Given the description of an element on the screen output the (x, y) to click on. 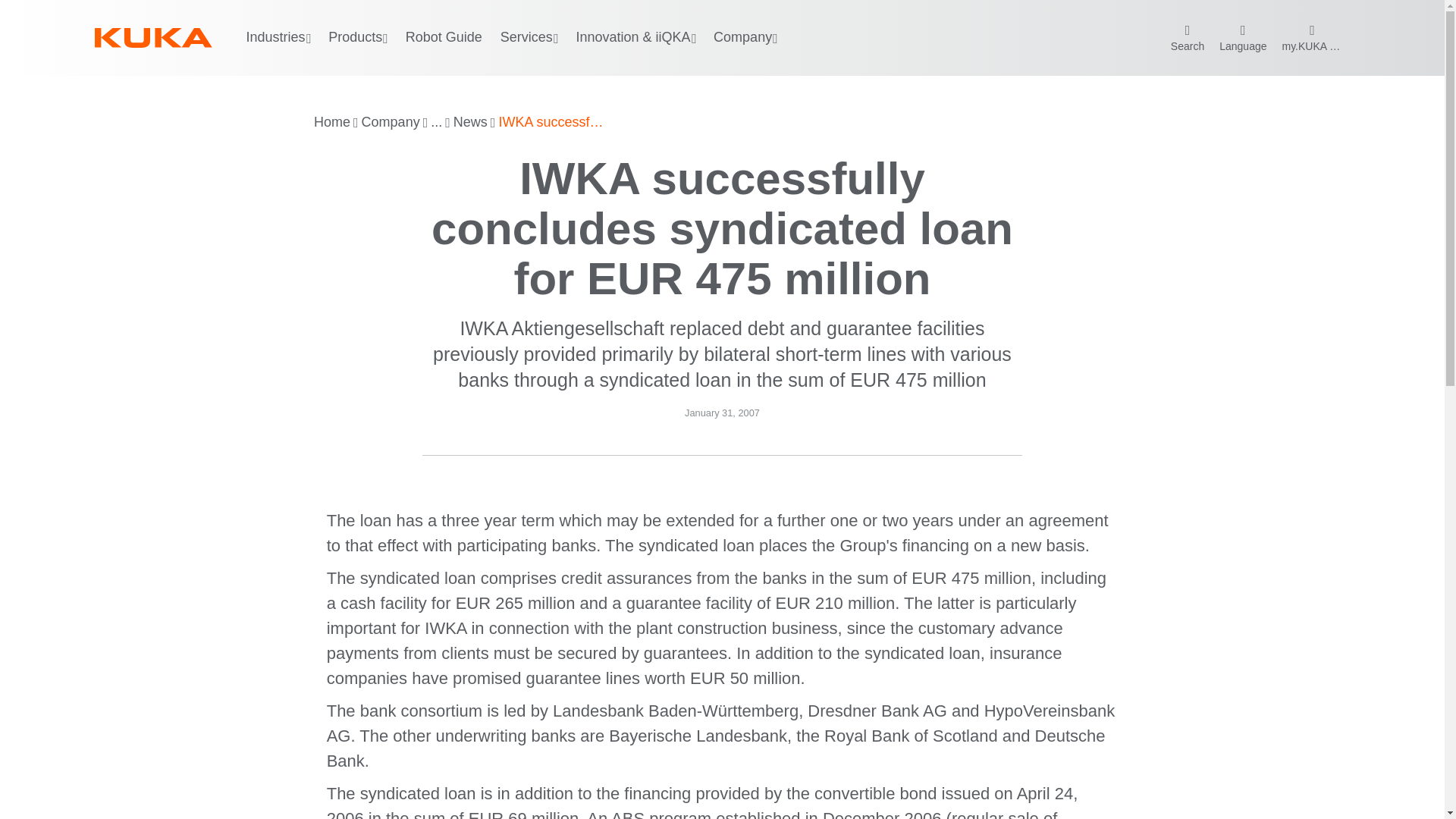
Company (390, 122)
Show entire List (436, 122)
Home (332, 122)
News (469, 122)
